Given the description of an element on the screen output the (x, y) to click on. 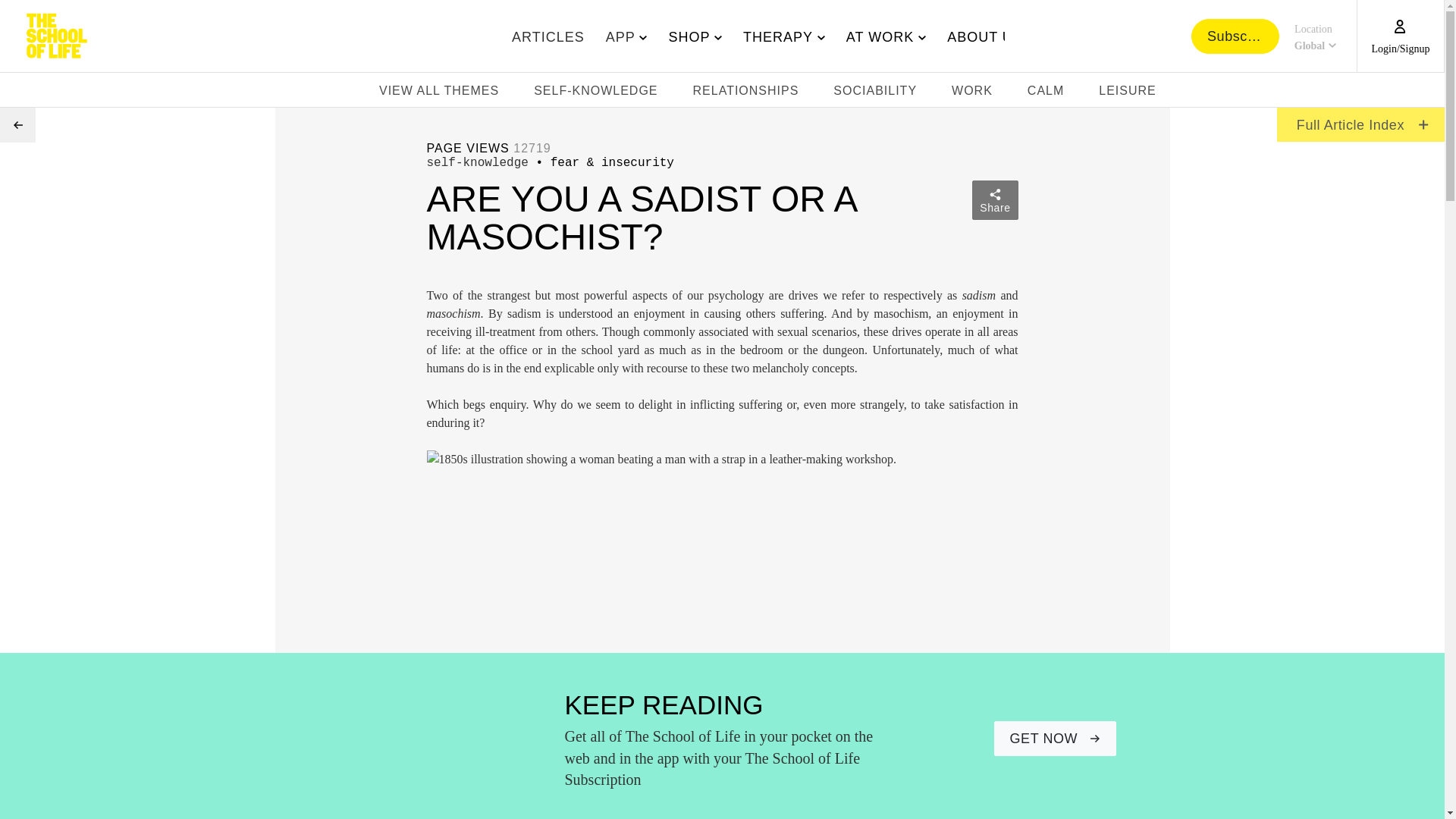
ARTICLES (1312, 36)
APP (773, 36)
X (548, 37)
Youtube (622, 37)
Subscribe (1388, 92)
Facebook (1366, 92)
Linkedin (1235, 35)
TikTok (1411, 92)
Back to articles (1433, 92)
Subscribe (1345, 92)
Instagram (17, 124)
